Given the description of an element on the screen output the (x, y) to click on. 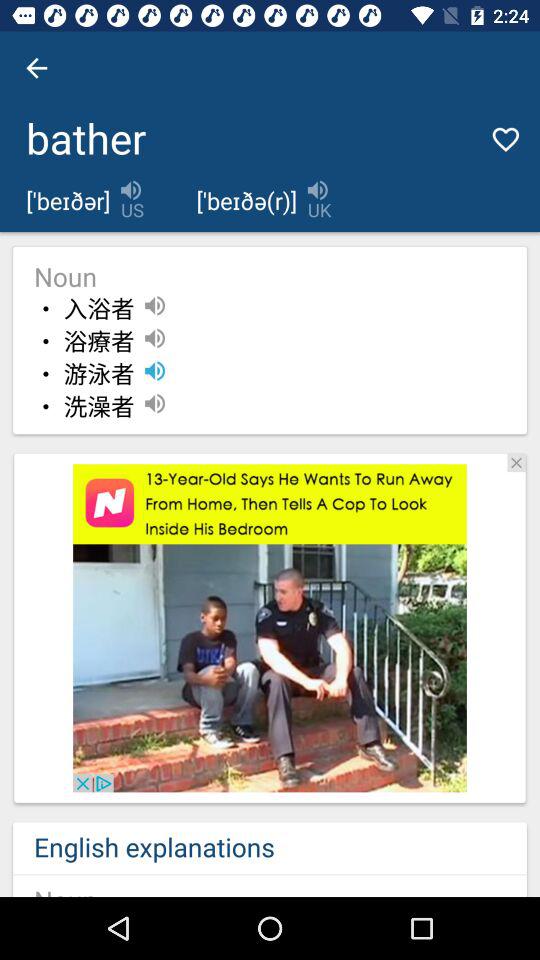
close the image (516, 462)
